Given the description of an element on the screen output the (x, y) to click on. 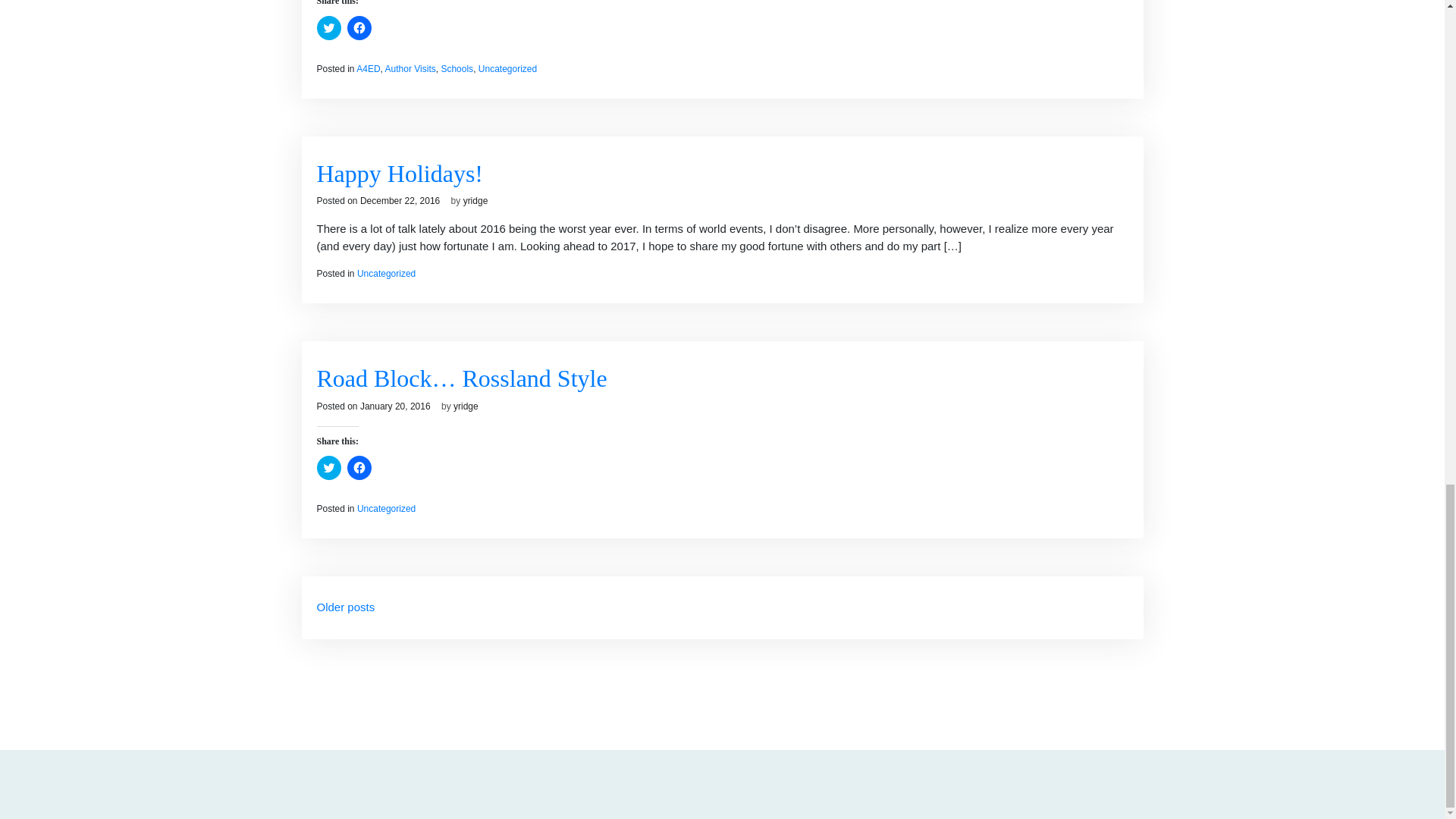
Uncategorized (508, 68)
Happy Holidays! (400, 173)
Author Visits (410, 68)
A4ED (368, 68)
Schools (457, 68)
December 22, 2016 (399, 200)
